Given the description of an element on the screen output the (x, y) to click on. 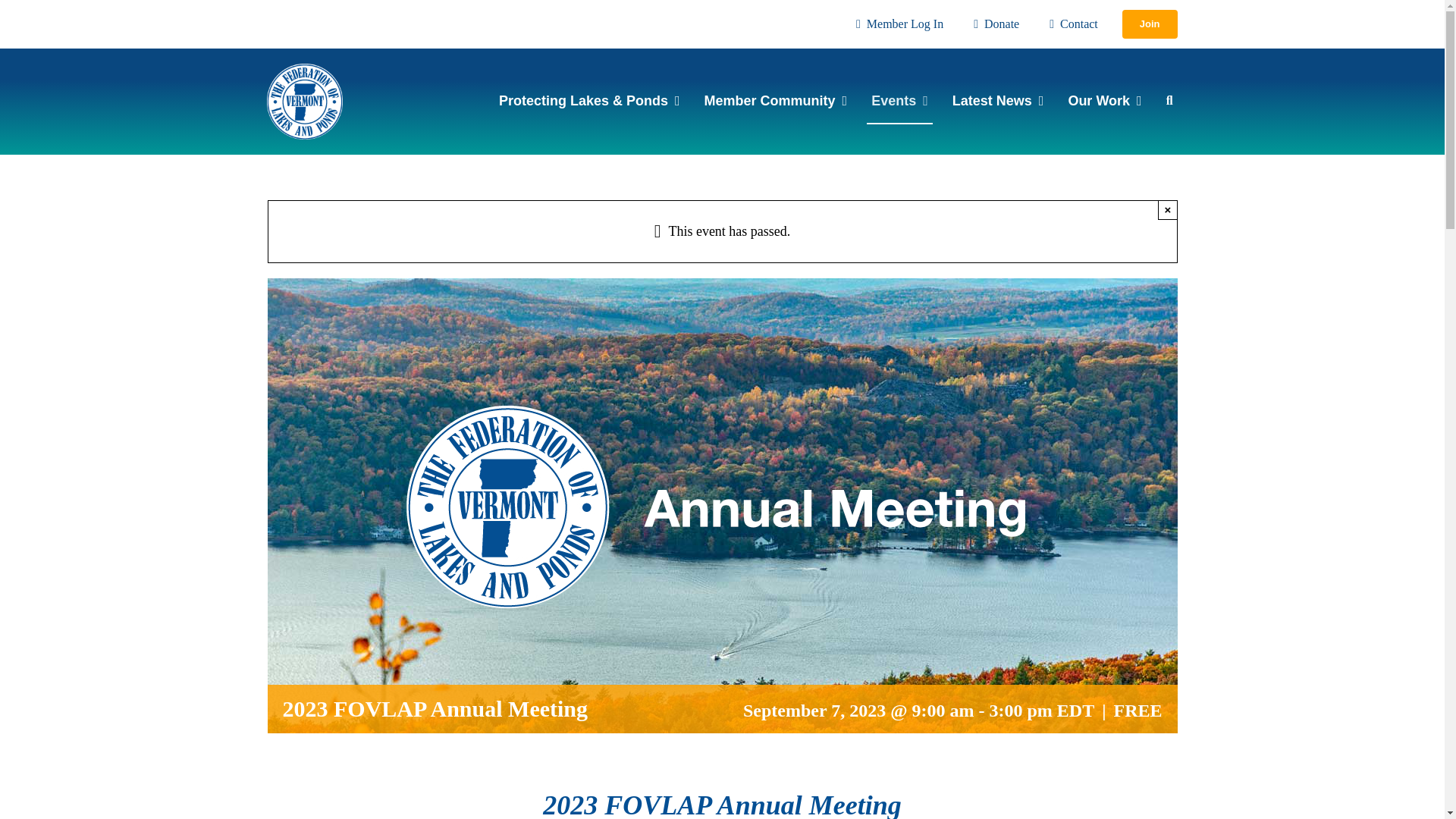
Member Community (775, 101)
Donate (993, 24)
Contact (1070, 24)
Member Log In (896, 24)
Join (1149, 24)
